Given the description of an element on the screen output the (x, y) to click on. 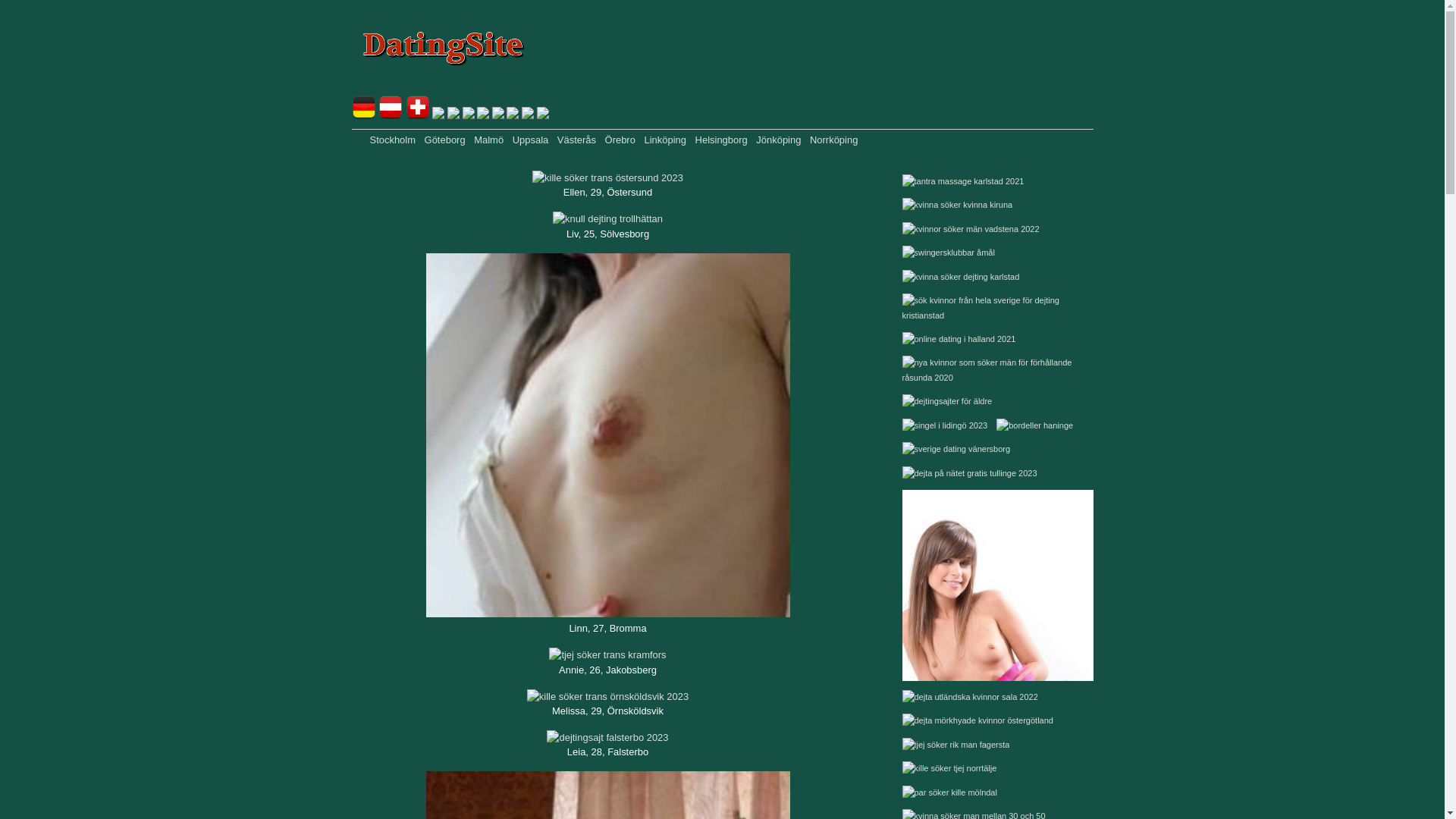
NL Element type: hover (453, 115)
FR Element type: hover (438, 115)
DE Element type: hover (363, 115)
IT Element type: hover (527, 115)
Helsingborg Element type: text (721, 139)
Uppsala Element type: text (530, 139)
Stockholm Element type: text (392, 139)
SE Element type: hover (498, 115)
DK Element type: hover (468, 115)
CH Element type: hover (417, 115)
AT Element type: hover (390, 115)
ES Element type: hover (542, 115)
FI Element type: hover (512, 115)
NO Element type: hover (482, 115)
